Given the description of an element on the screen output the (x, y) to click on. 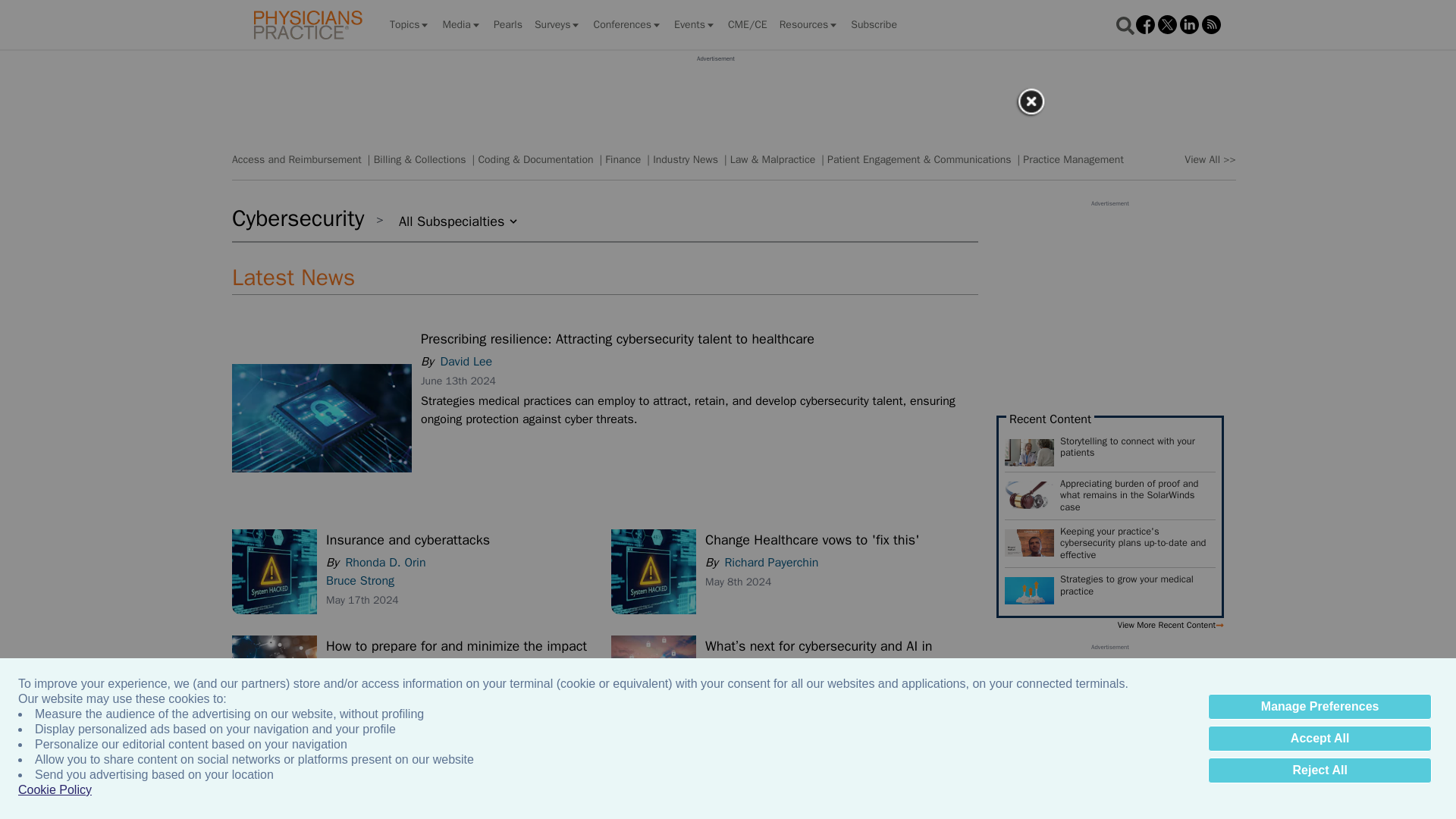
Reject All (1319, 769)
Pearls (507, 23)
3rd party ad content (1109, 302)
Subscribe (873, 23)
3rd party ad content (715, 97)
Accept All (1319, 738)
Manage Preferences (1319, 706)
Cookie Policy (54, 789)
